Given the description of an element on the screen output the (x, y) to click on. 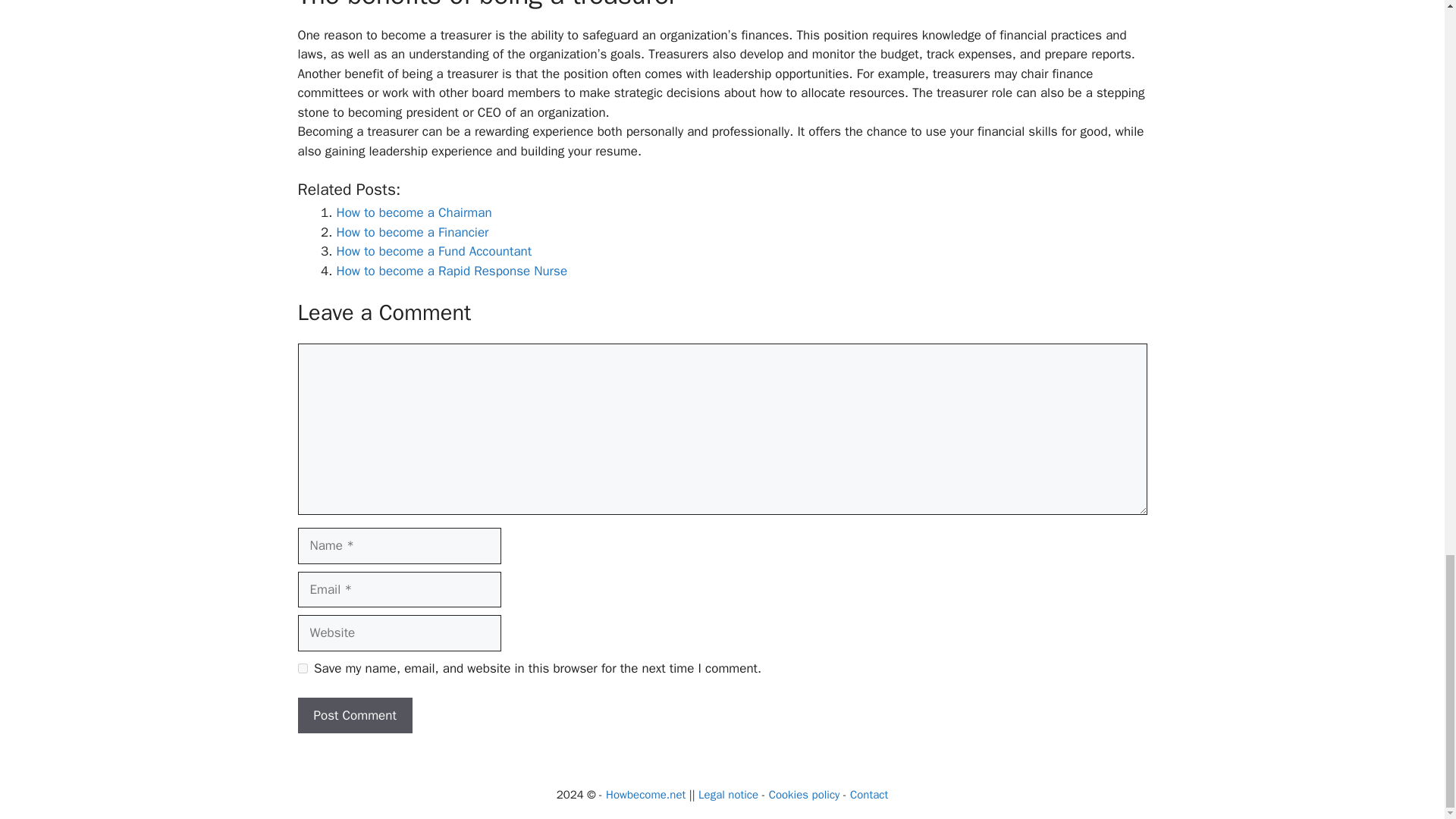
yes (302, 668)
Contact (869, 794)
How to become a Chairman (414, 212)
How to become a Rapid Response Nurse (451, 270)
How to become a Financier (412, 232)
Post Comment (354, 715)
Post Comment (354, 715)
How to become a Financier (412, 232)
How to become a Fund Accountant (434, 251)
How to become a Fund Accountant (434, 251)
Cookies policy (804, 794)
Legal notice (728, 794)
How to become a Rapid Response Nurse (451, 270)
Howbecome.net (645, 794)
How to become a Chairman (414, 212)
